Given the description of an element on the screen output the (x, y) to click on. 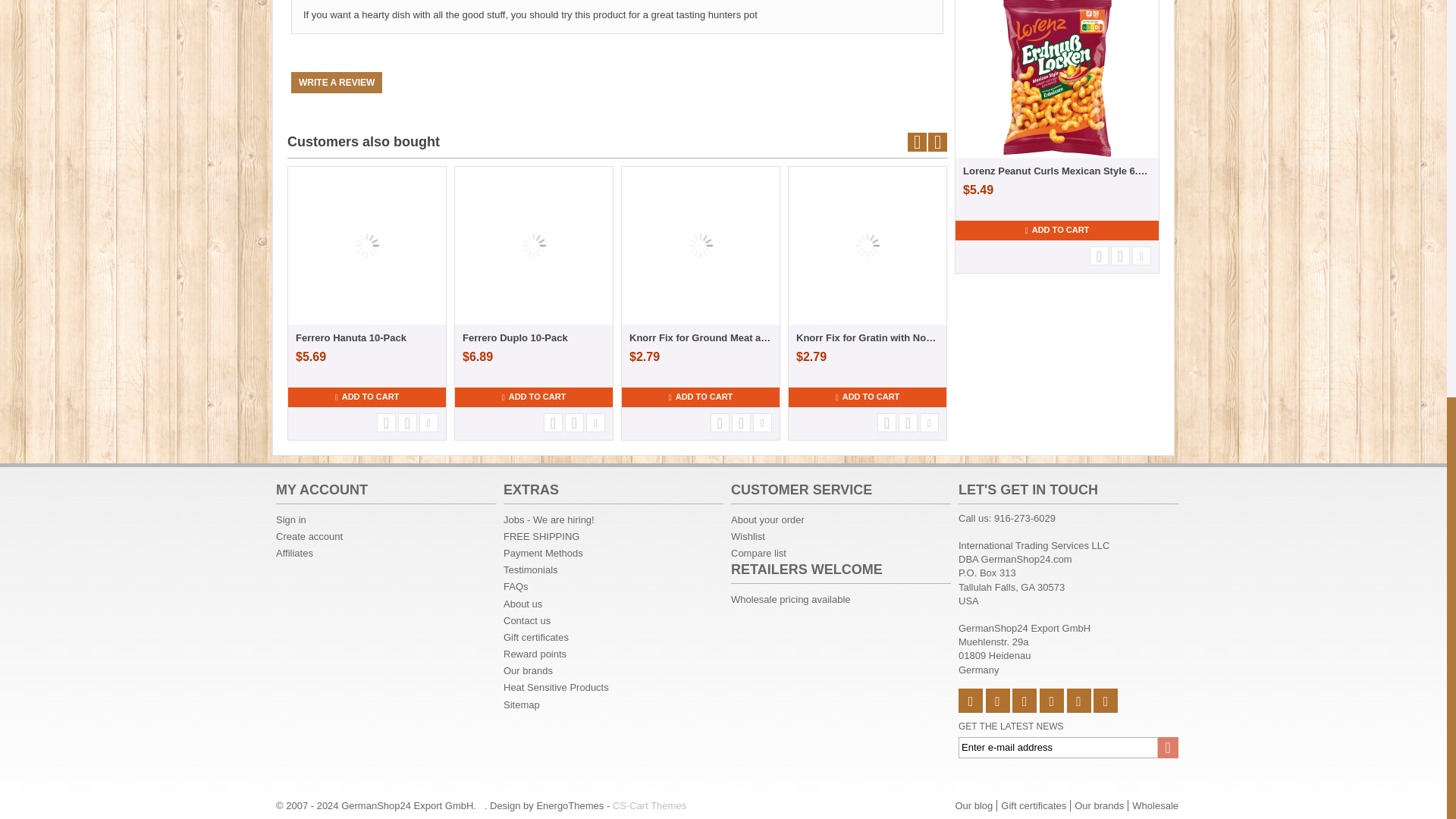
Enter e-mail address (1067, 747)
